Given the description of an element on the screen output the (x, y) to click on. 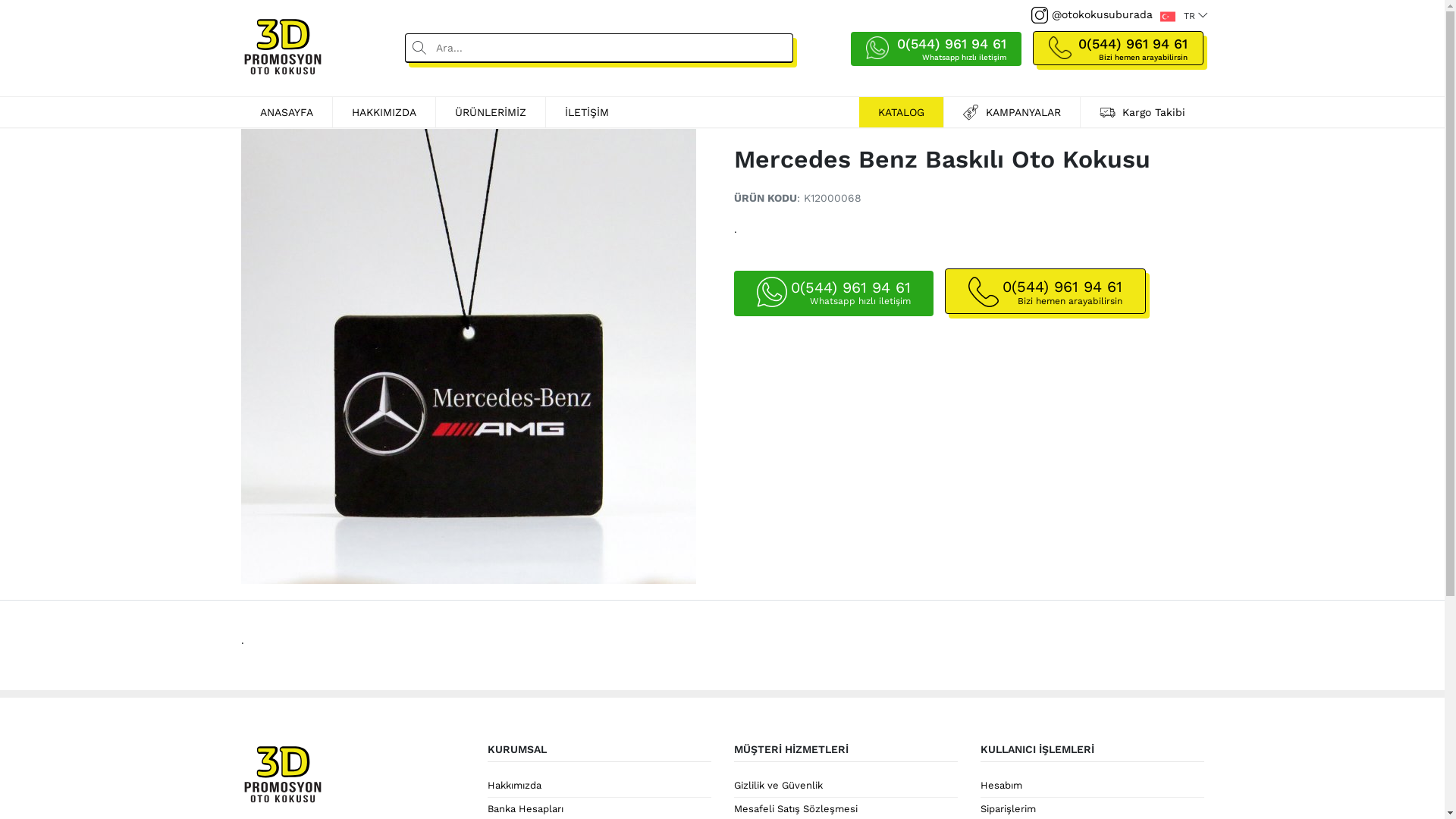
KATALOG Element type: text (900, 112)
ANASAYFA Element type: text (286, 112)
KAMPANYALAR Element type: text (1011, 112)
Kargo Takibi Element type: text (1141, 112)
HAKKIMIZDA Element type: text (383, 112)
0(544) 961 94 61

Bizi hemen arayabilirsin Element type: text (1059, 43)
0(544) 961 94 61
Bizi hemen arayabilirsin Element type: text (1044, 288)
@otokokusuburada Element type: text (1091, 14)
